Given the description of an element on the screen output the (x, y) to click on. 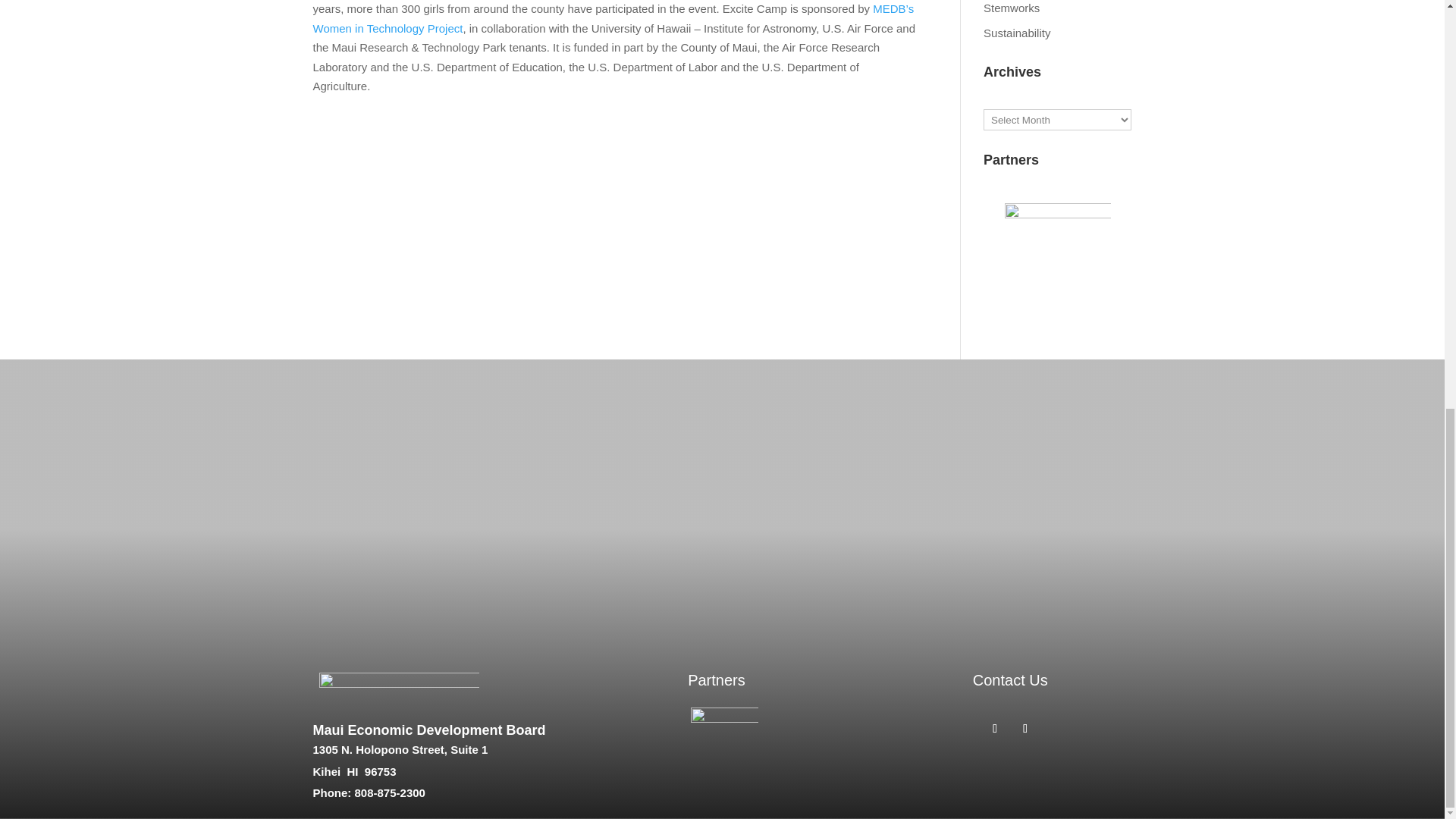
Follow on Facebook (994, 728)
Sustainability (1016, 32)
Stemworks (1011, 7)
Follow on X (1024, 728)
Women in Technology project (613, 18)
Contact Us (1010, 679)
